Given the description of an element on the screen output the (x, y) to click on. 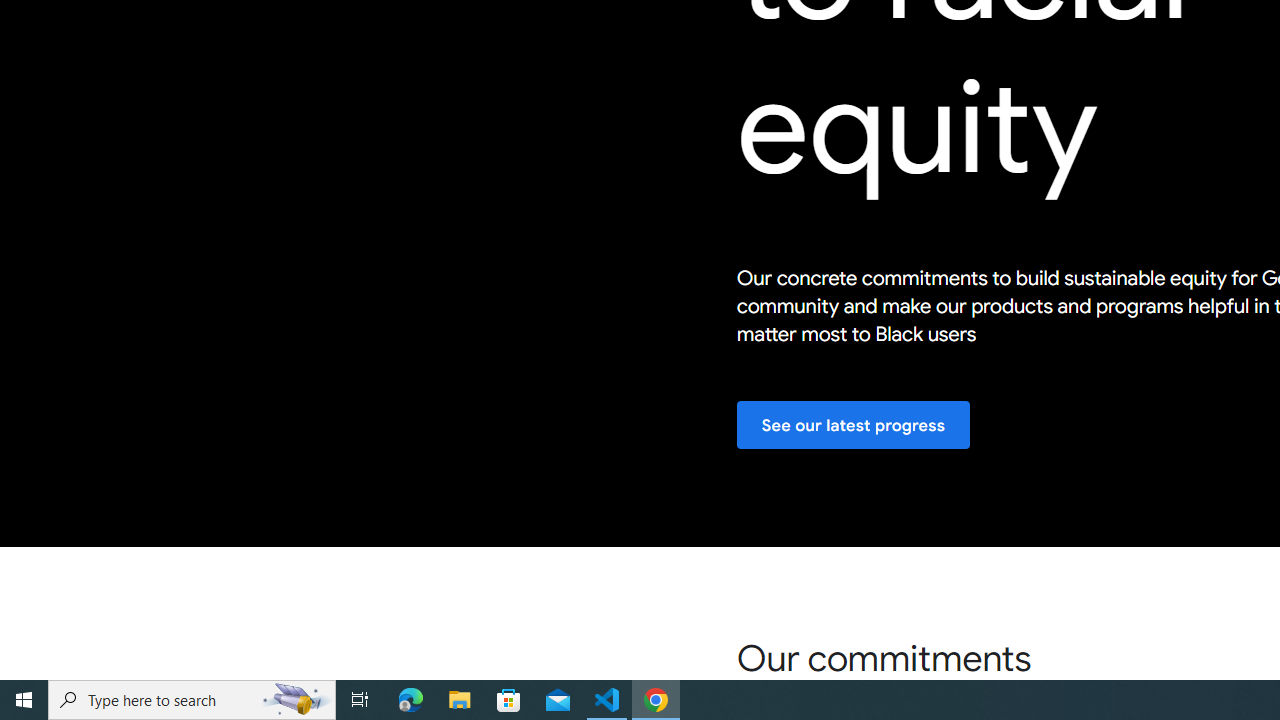
See our latest progress (853, 425)
